Given the description of an element on the screen output the (x, y) to click on. 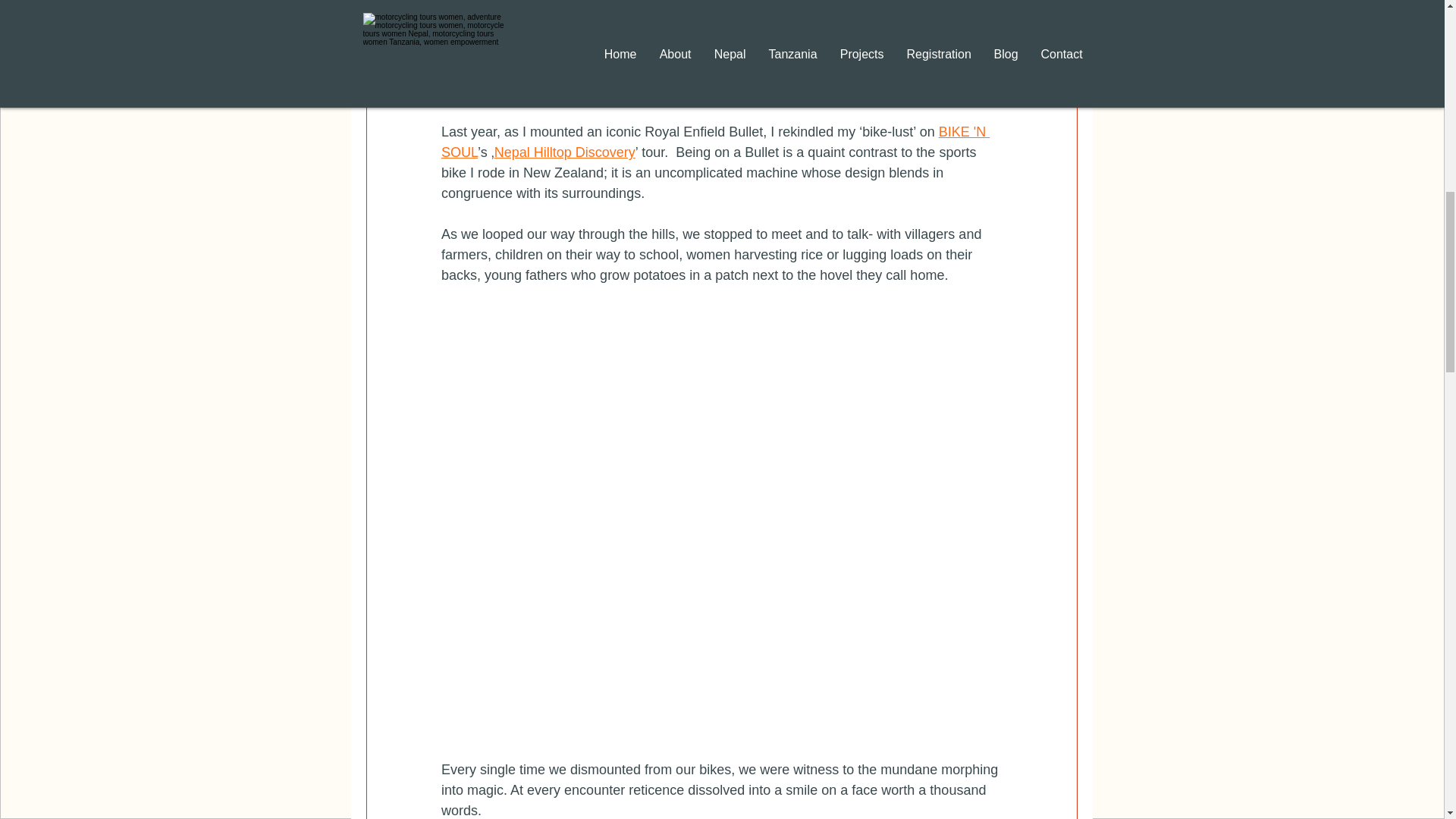
Nepal Hilltop Discovery (563, 151)
BIKE 'N SOUL (715, 141)
